Given the description of an element on the screen output the (x, y) to click on. 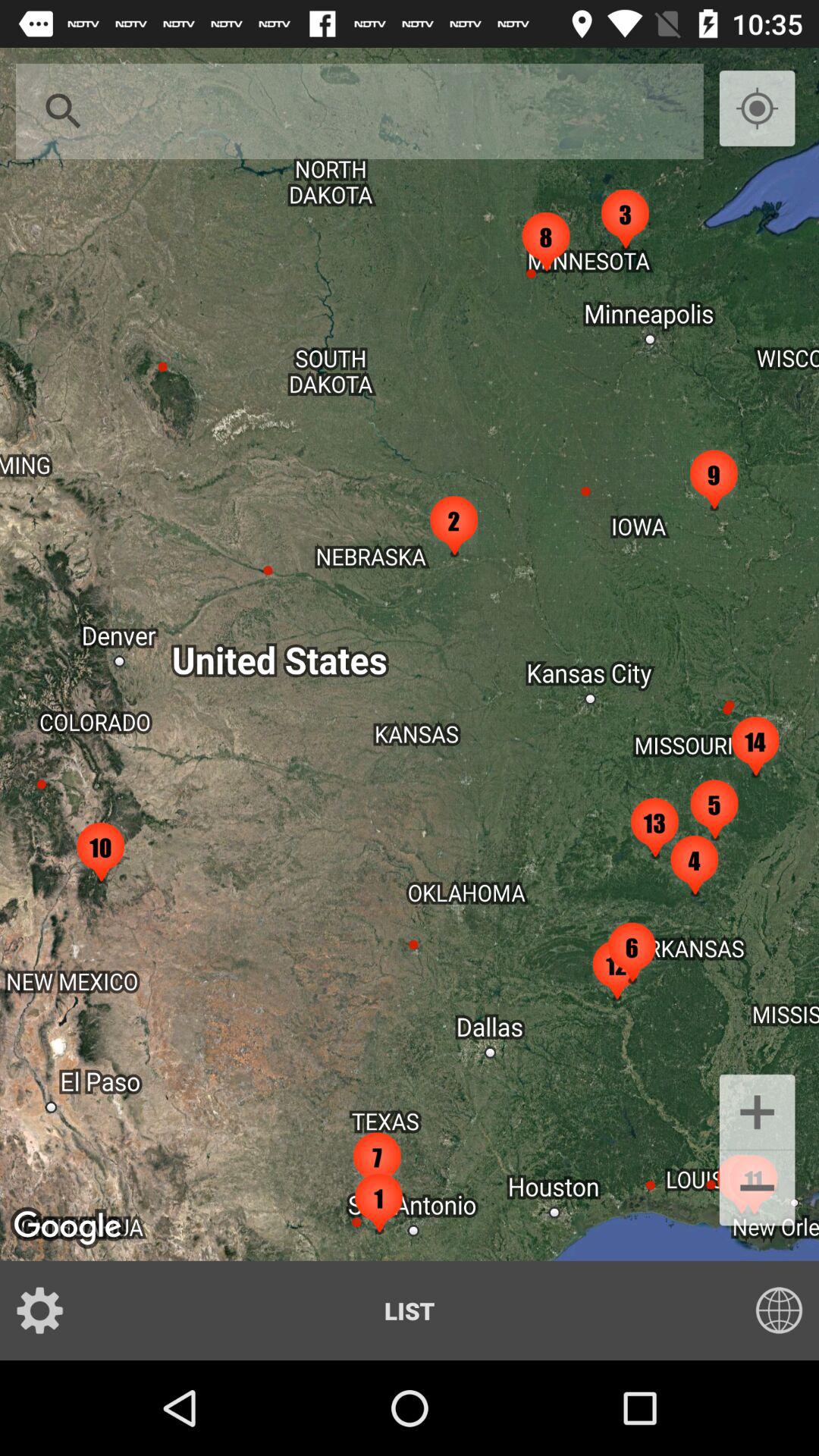
swipe to the list item (409, 1310)
